Given the description of an element on the screen output the (x, y) to click on. 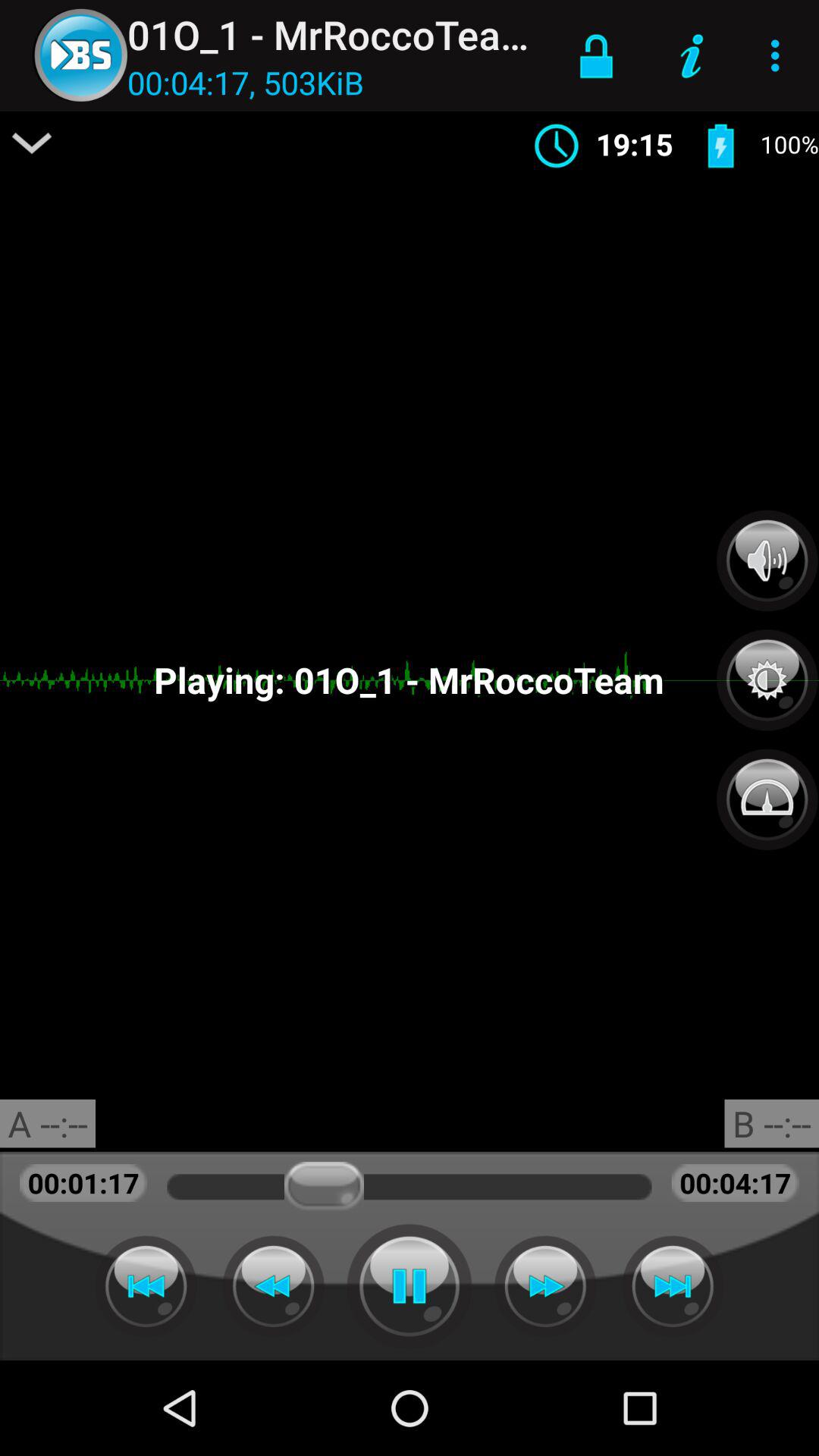
access menu (31, 143)
